Given the description of an element on the screen output the (x, y) to click on. 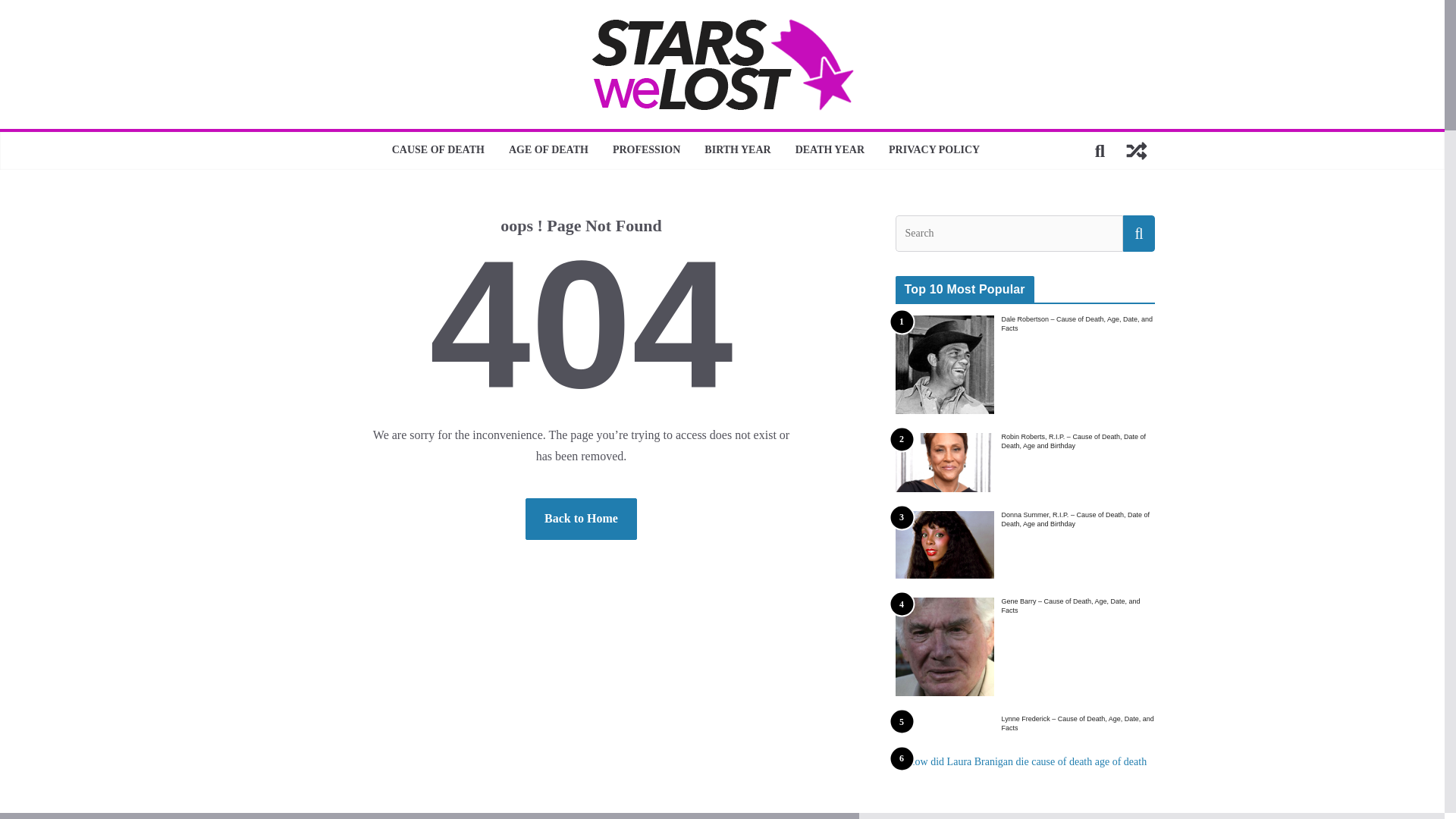
5 (943, 723)
PROFESSION (645, 150)
1 (943, 364)
BIRTH YEAR (737, 150)
3 (943, 544)
CAUSE OF DEATH (437, 150)
Back to Home (581, 518)
6 (1175, 785)
View a random post (1136, 150)
PRIVACY POLICY (933, 150)
DEATH YEAR (829, 150)
4 (943, 646)
AGE OF DEATH (548, 150)
2 (943, 462)
